Given the description of an element on the screen output the (x, y) to click on. 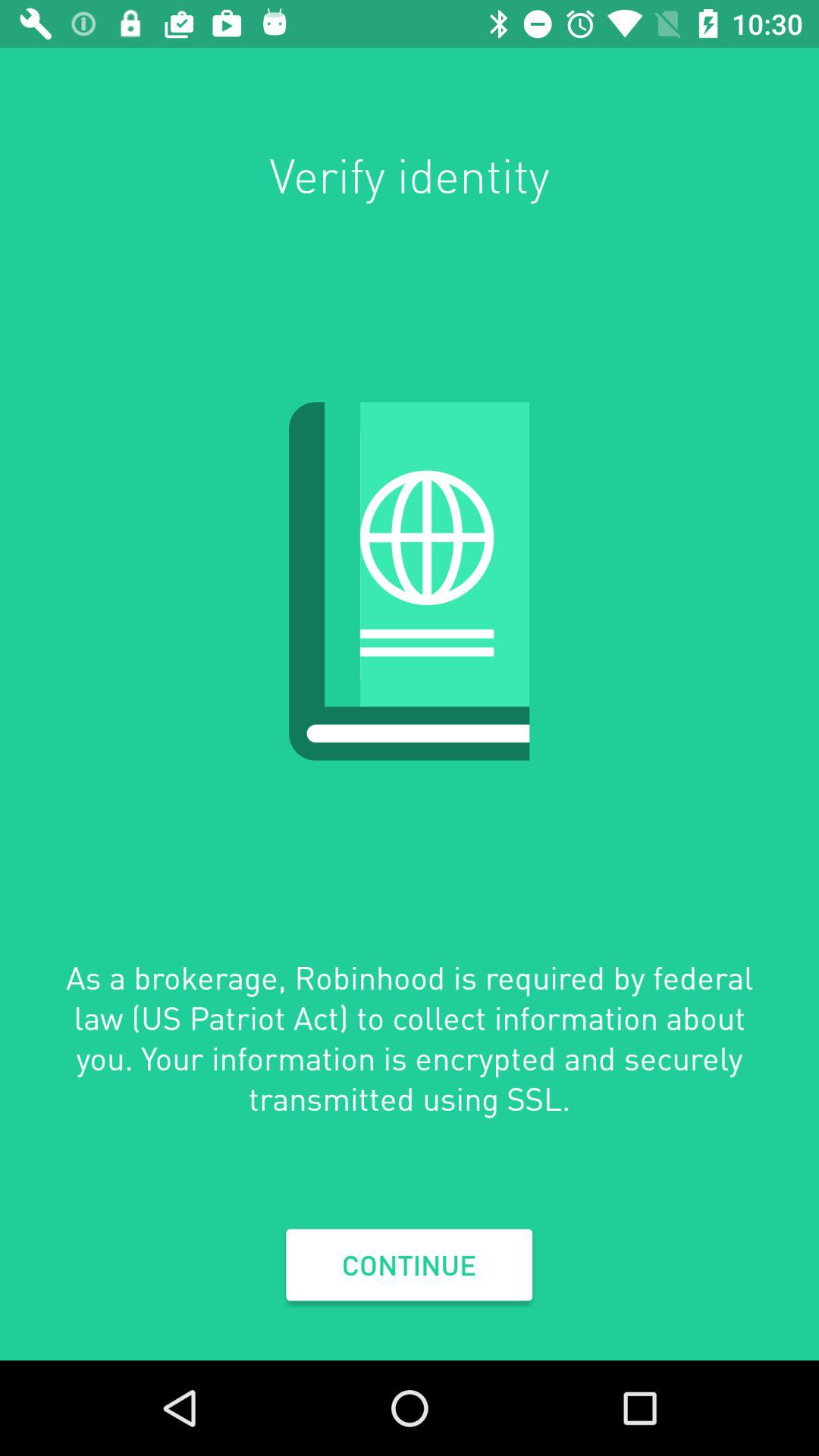
scroll to continue (409, 1264)
